Given the description of an element on the screen output the (x, y) to click on. 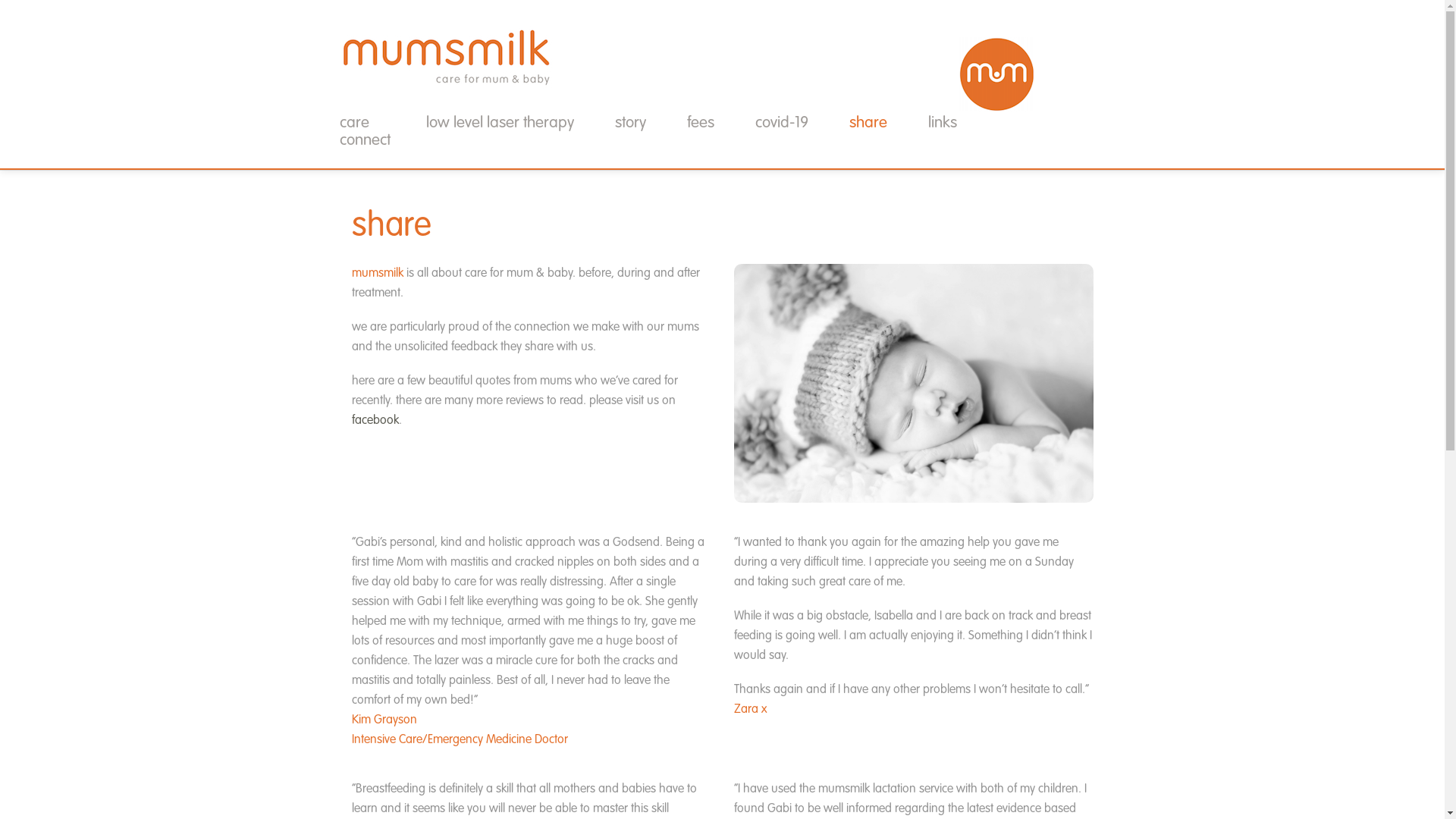
fees Element type: text (699, 122)
share Element type: text (867, 122)
ImageShare97_a Element type: hover (913, 383)
low level laser therapy Element type: text (498, 122)
mumsmilk Element type: hover (446, 74)
links Element type: text (941, 122)
covid-19 Element type: text (781, 122)
mmlogo email Element type: hover (446, 57)
facebook Element type: text (374, 420)
story Element type: text (630, 122)
connect Element type: text (364, 140)
care Element type: text (361, 122)
